Given the description of an element on the screen output the (x, y) to click on. 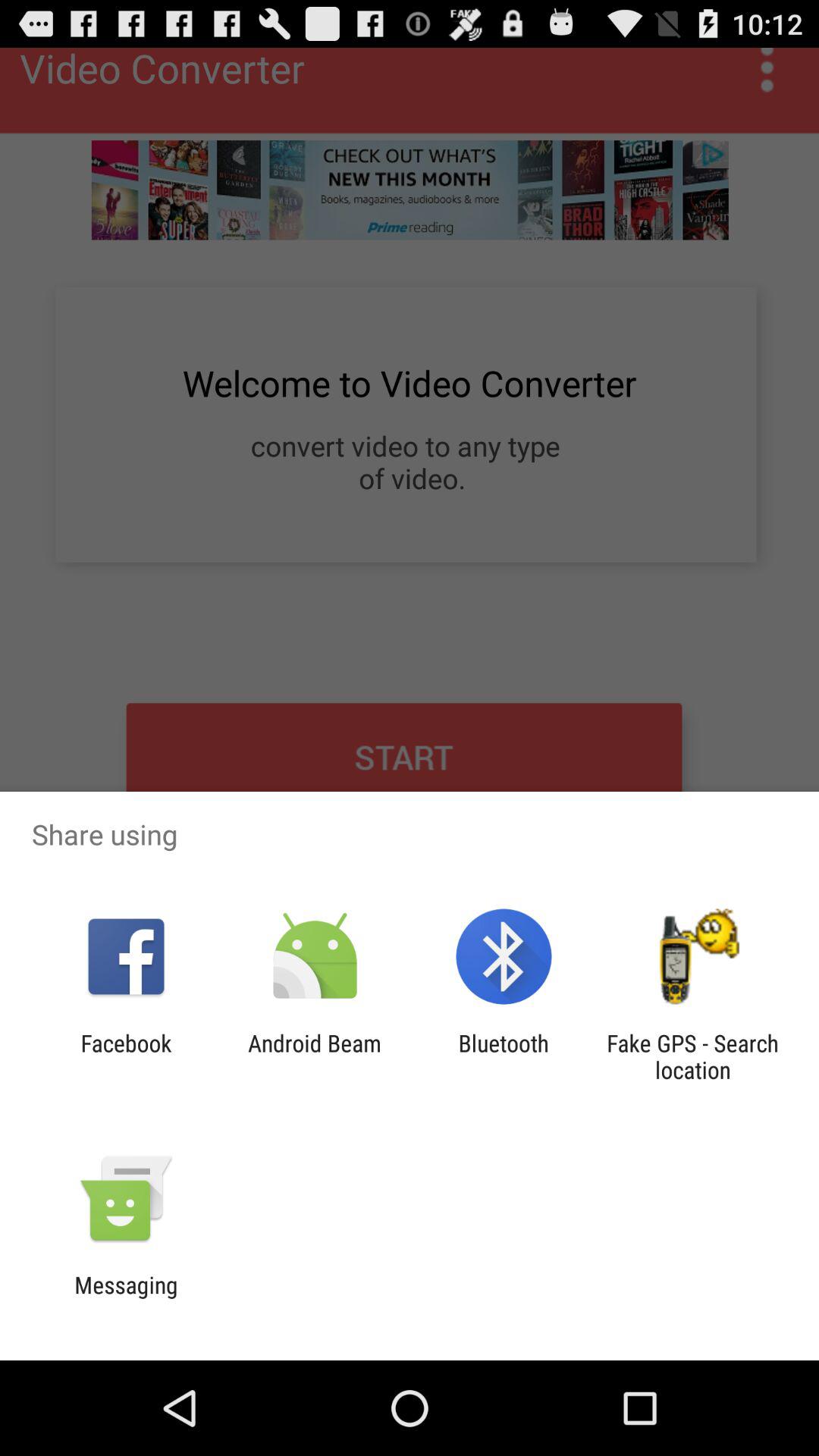
press the icon to the left of android beam (125, 1056)
